Given the description of an element on the screen output the (x, y) to click on. 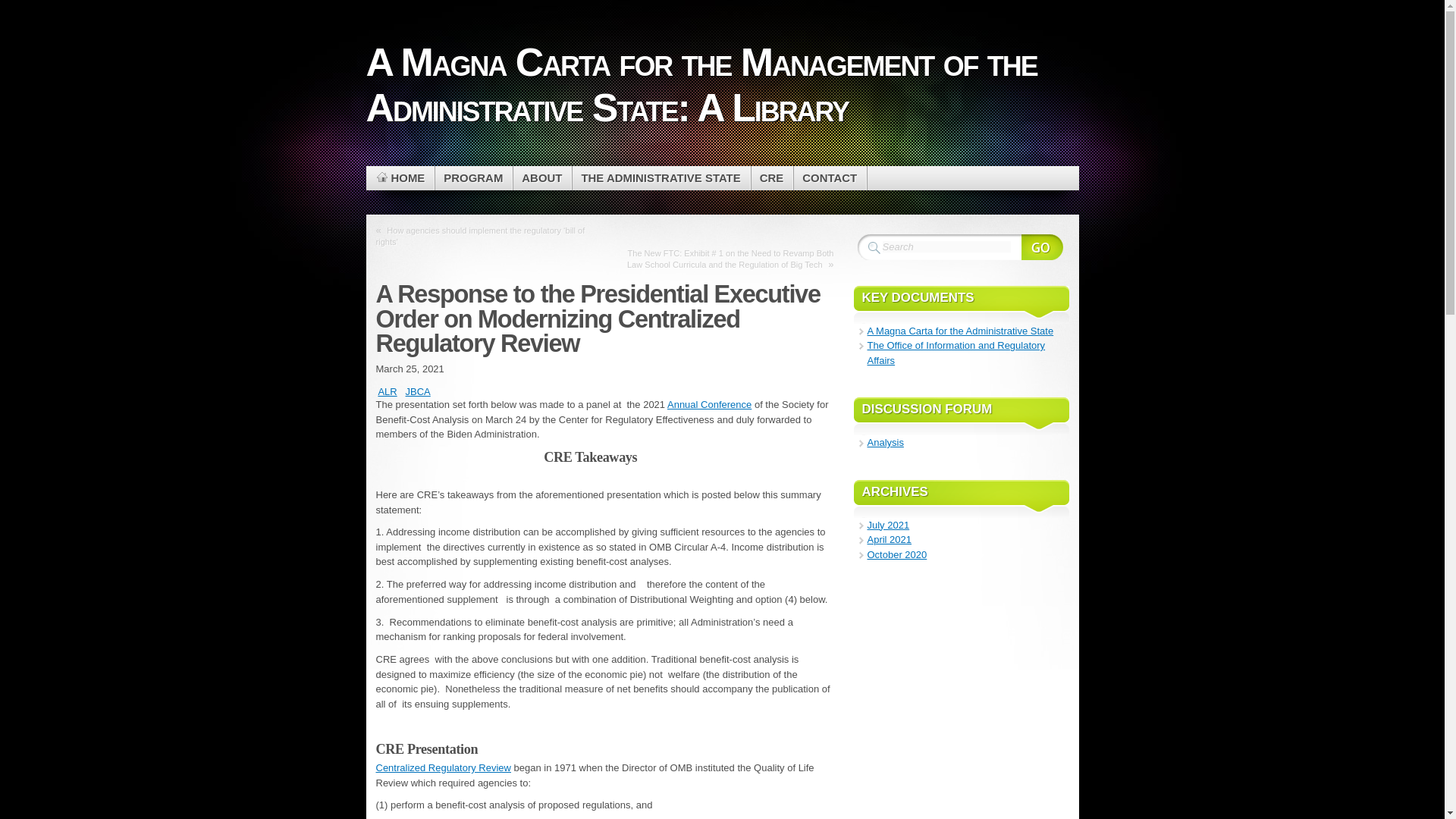
PROGRAM (473, 178)
ABOUT (542, 178)
The Office of Information and Regulatory Affairs (956, 352)
CRE (772, 178)
Program (473, 178)
Contact (829, 178)
July 2021 (888, 524)
Search (946, 246)
ALR (386, 391)
